Given the description of an element on the screen output the (x, y) to click on. 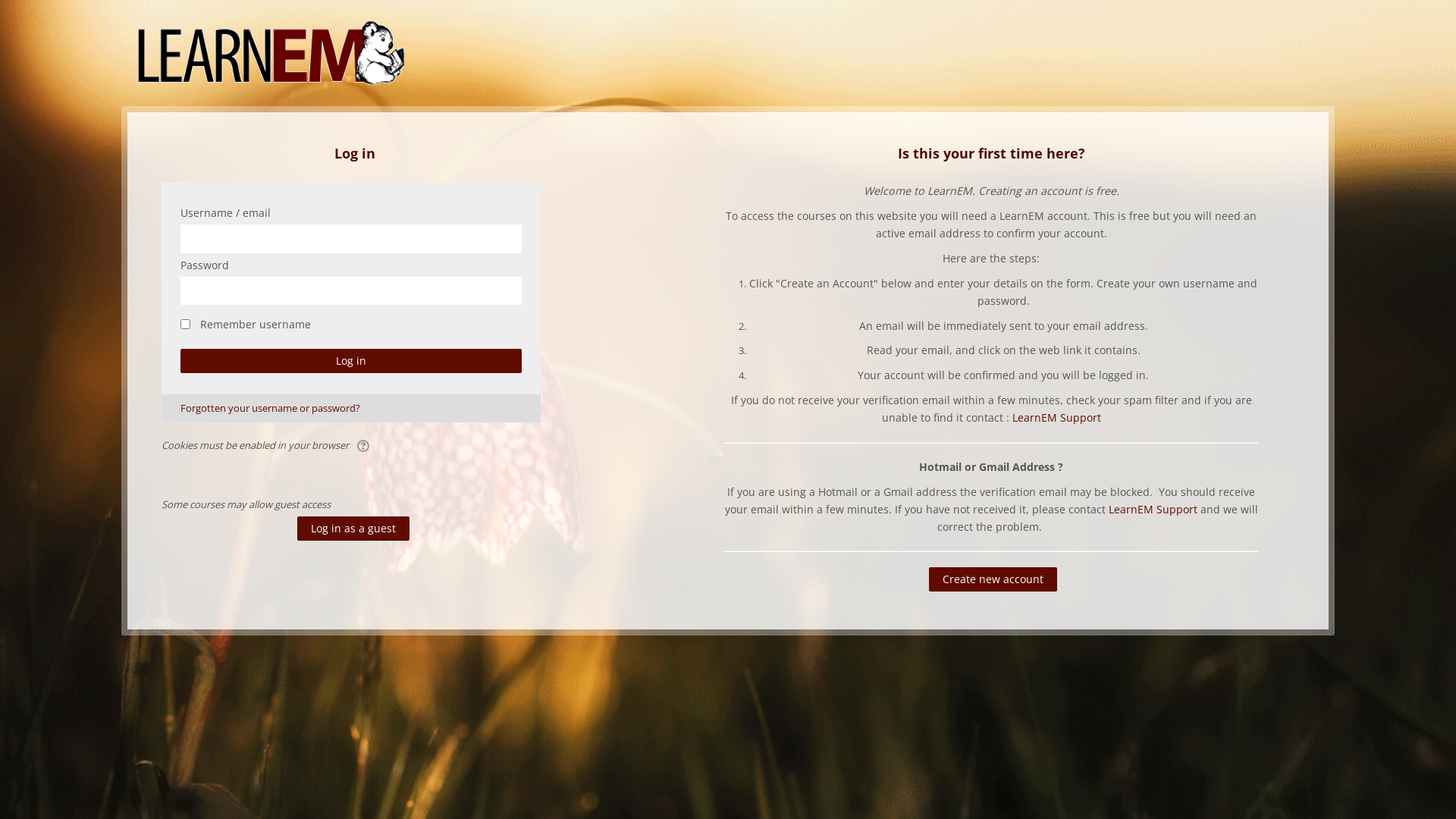
LearnEM Support Element type: text (1152, 509)
Help with Cookies must be enabled in your browser Element type: hover (363, 444)
Log in Element type: text (350, 360)
Log in as a guest Element type: text (353, 528)
Forgotten your username or password? Element type: text (260, 407)
LearnEM Support Element type: text (1056, 417)
Home Element type: hover (270, 51)
Help with Cookies must be enabled in your browser Element type: hover (363, 445)
Create new account Element type: text (992, 579)
